Given the description of an element on the screen output the (x, y) to click on. 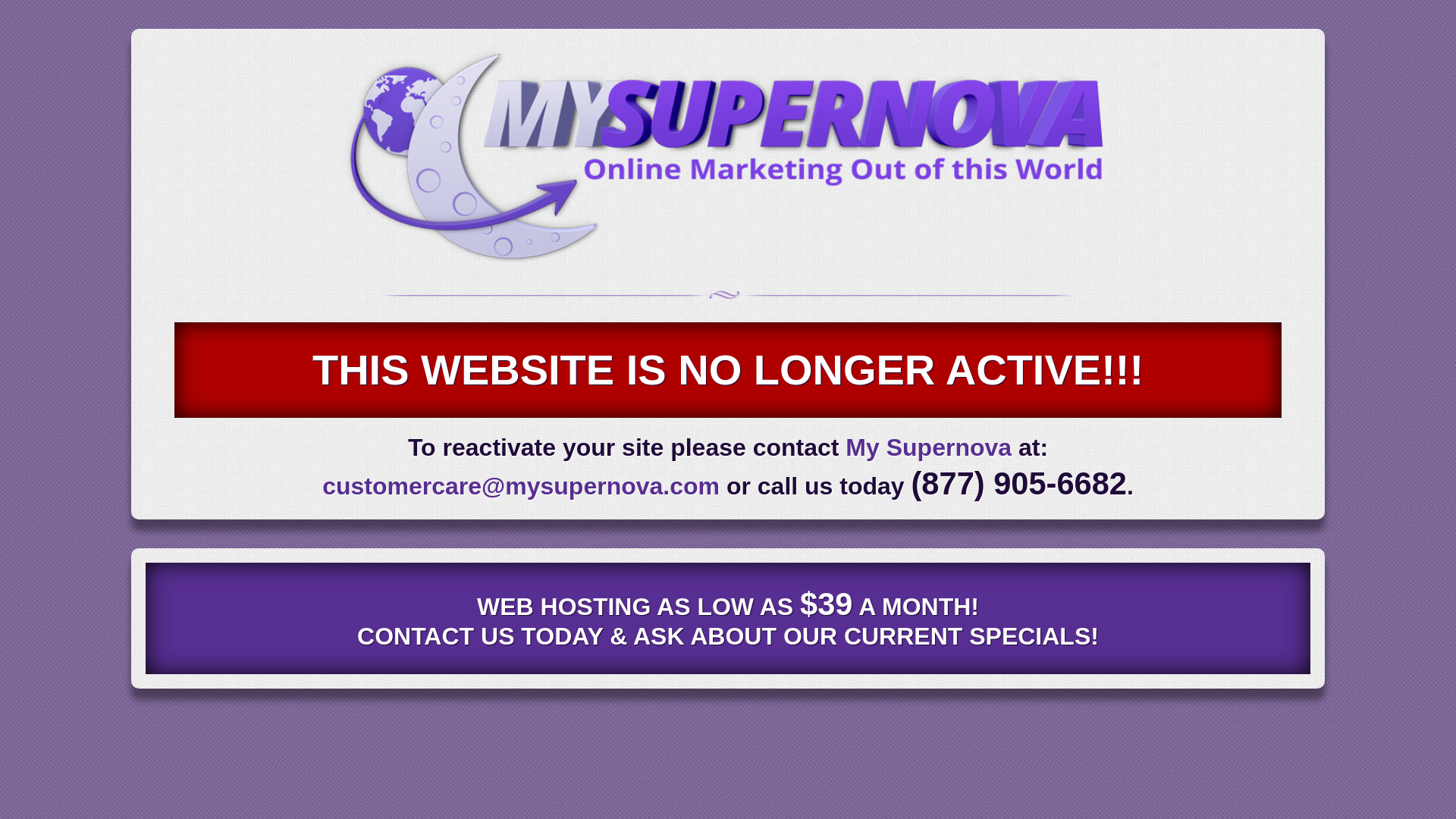
My Supernova Element type: text (928, 447)
customercare@mysupernova.com Element type: text (520, 485)
My Supernova - Web Services Element type: hover (727, 155)
My Supernova - Web Services Element type: hover (727, 262)
